Given the description of an element on the screen output the (x, y) to click on. 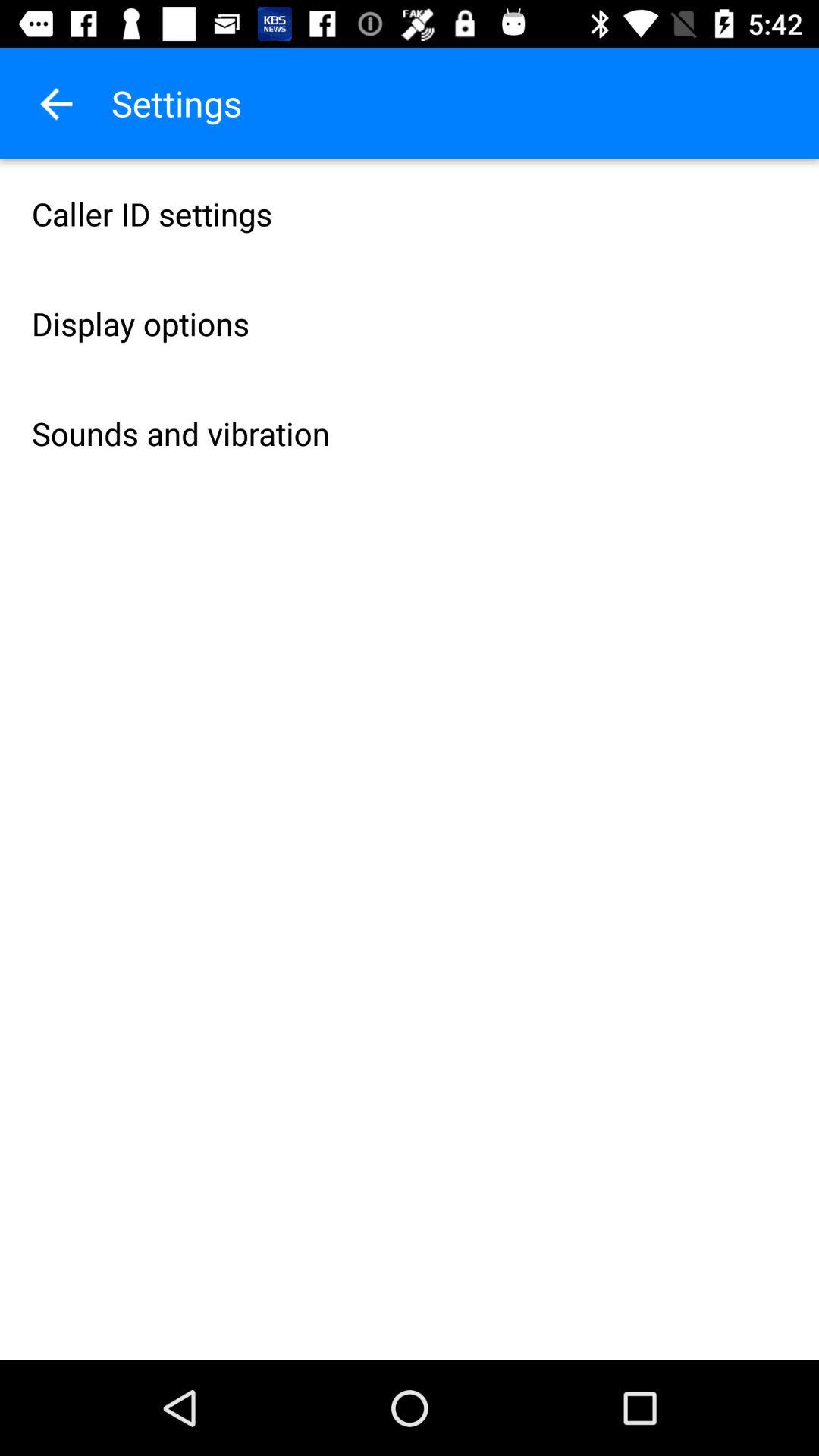
scroll to the sounds and vibration icon (409, 433)
